Given the description of an element on the screen output the (x, y) to click on. 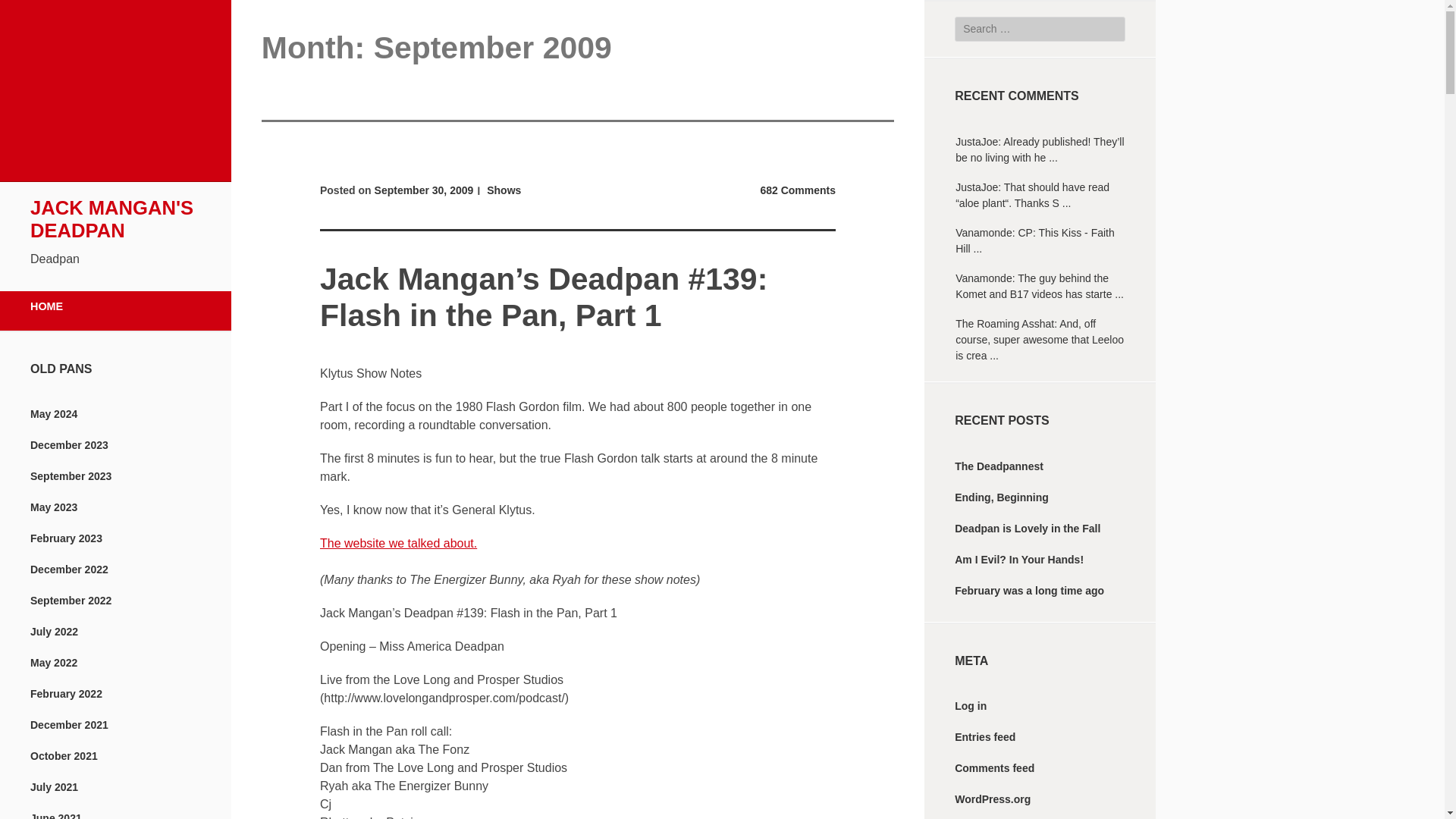
May 2023 (53, 507)
July 2022 (54, 631)
July 2021 (54, 787)
December 2023 (68, 444)
December 2022 (68, 569)
December 2021 (68, 725)
September 2023 (71, 476)
May 2022 (53, 662)
February 2023 (65, 538)
June 2021 (55, 815)
